Given the description of an element on the screen output the (x, y) to click on. 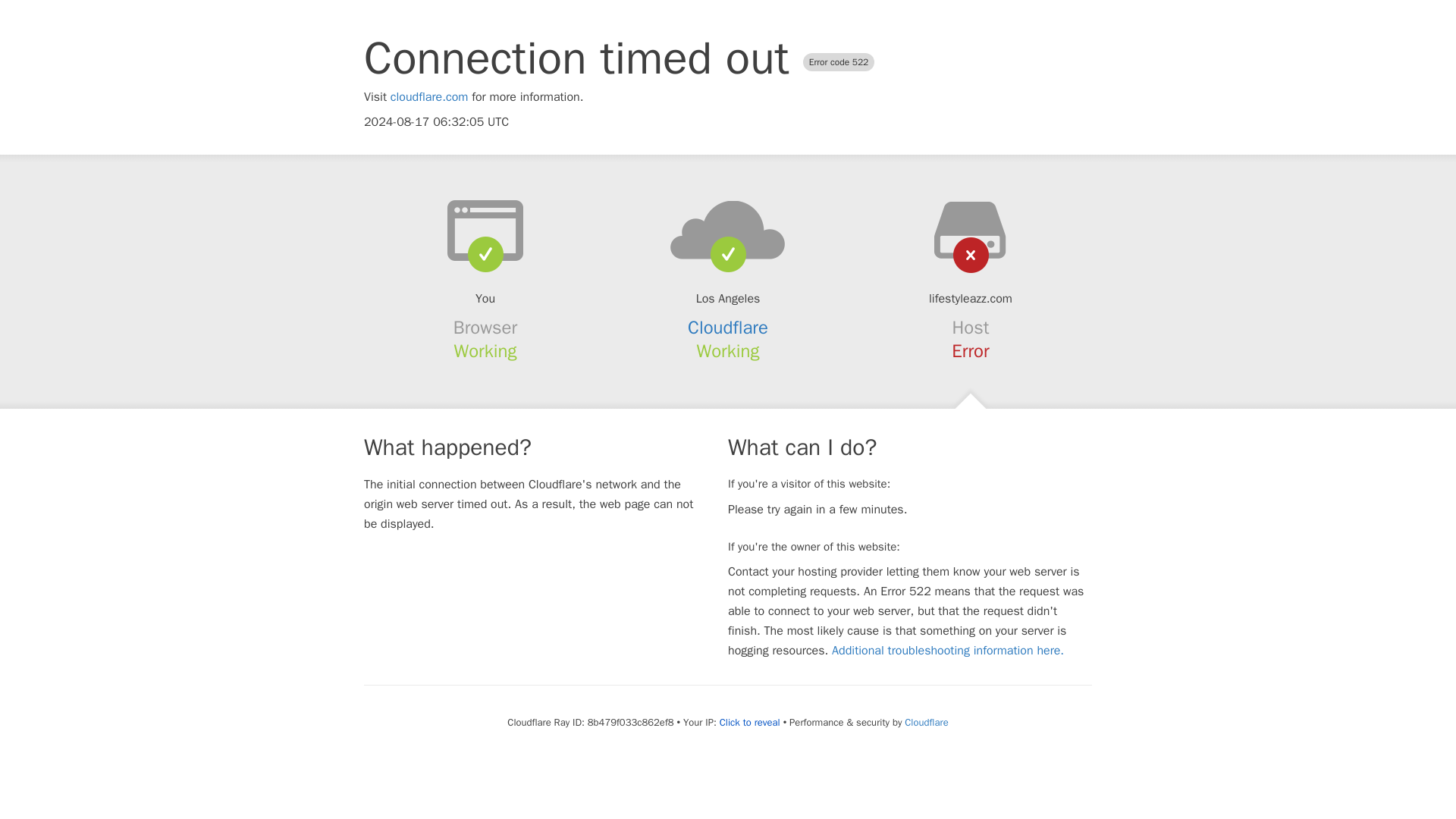
Click to reveal (749, 722)
Cloudflare (925, 721)
Additional troubleshooting information here. (947, 650)
Cloudflare (727, 327)
cloudflare.com (429, 96)
